Given the description of an element on the screen output the (x, y) to click on. 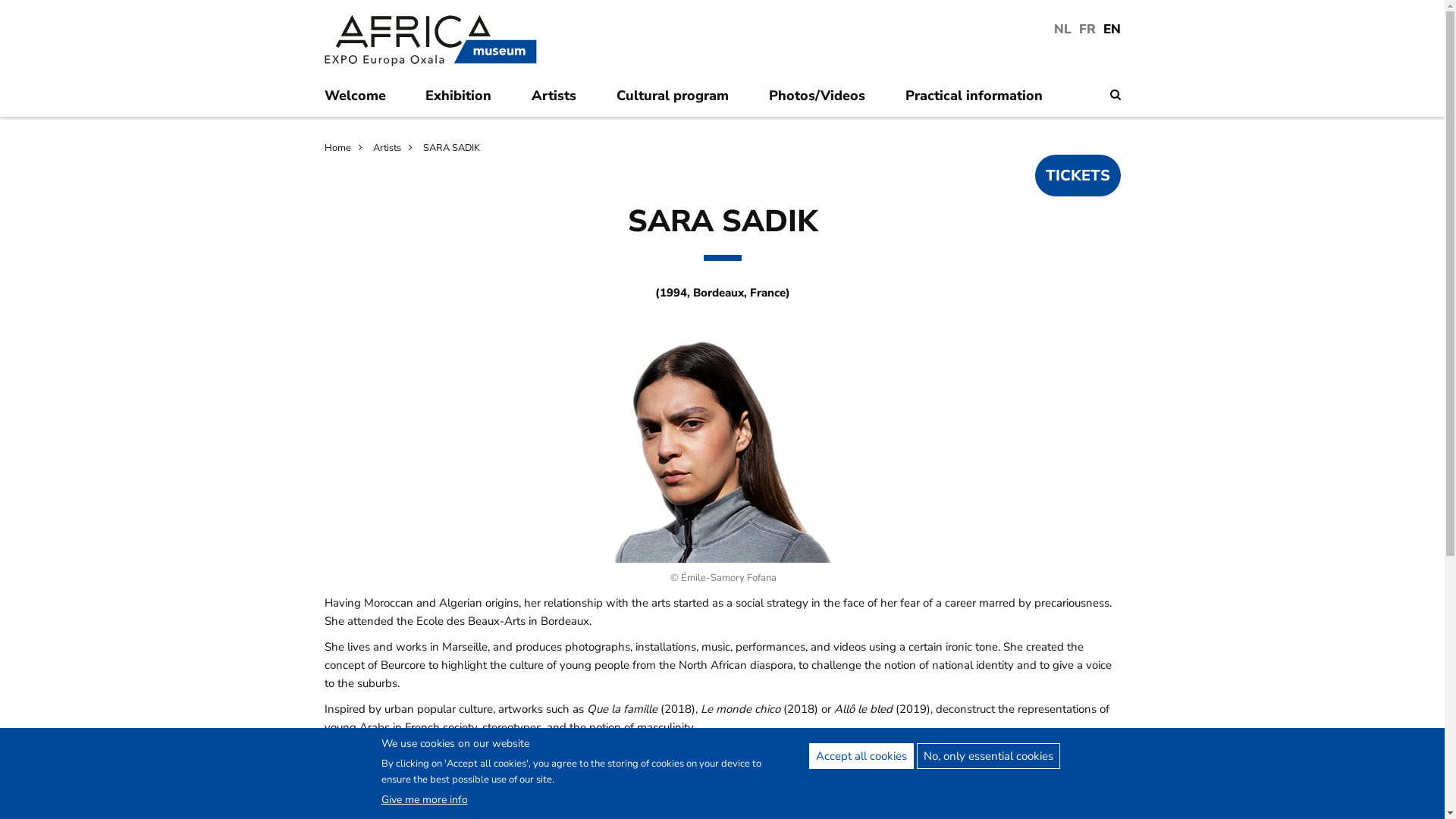
Welcome Element type: text (362, 98)
SARA SADIK Element type: text (451, 147)
Exhibition Element type: text (465, 98)
NL Element type: text (1062, 28)
Photos/Videos Element type: text (824, 98)
Cultural program Element type: text (679, 98)
EN Element type: text (1111, 28)
Search Element type: text (1115, 94)
Artists Element type: text (396, 147)
FR Element type: text (1086, 28)
Artists Element type: text (561, 98)
Accept all cookies Element type: text (860, 755)
Practical information Element type: text (981, 98)
Home Element type: text (347, 147)
Give me more info Element type: text (423, 799)
TICKETS Element type: text (1077, 175)
Skip to main content Element type: text (0, 3)
No, only essential cookies Element type: text (987, 755)
https://manifesto-21.com/sara-sadik-beurcore/ Element type: text (440, 804)
